Given the description of an element on the screen output the (x, y) to click on. 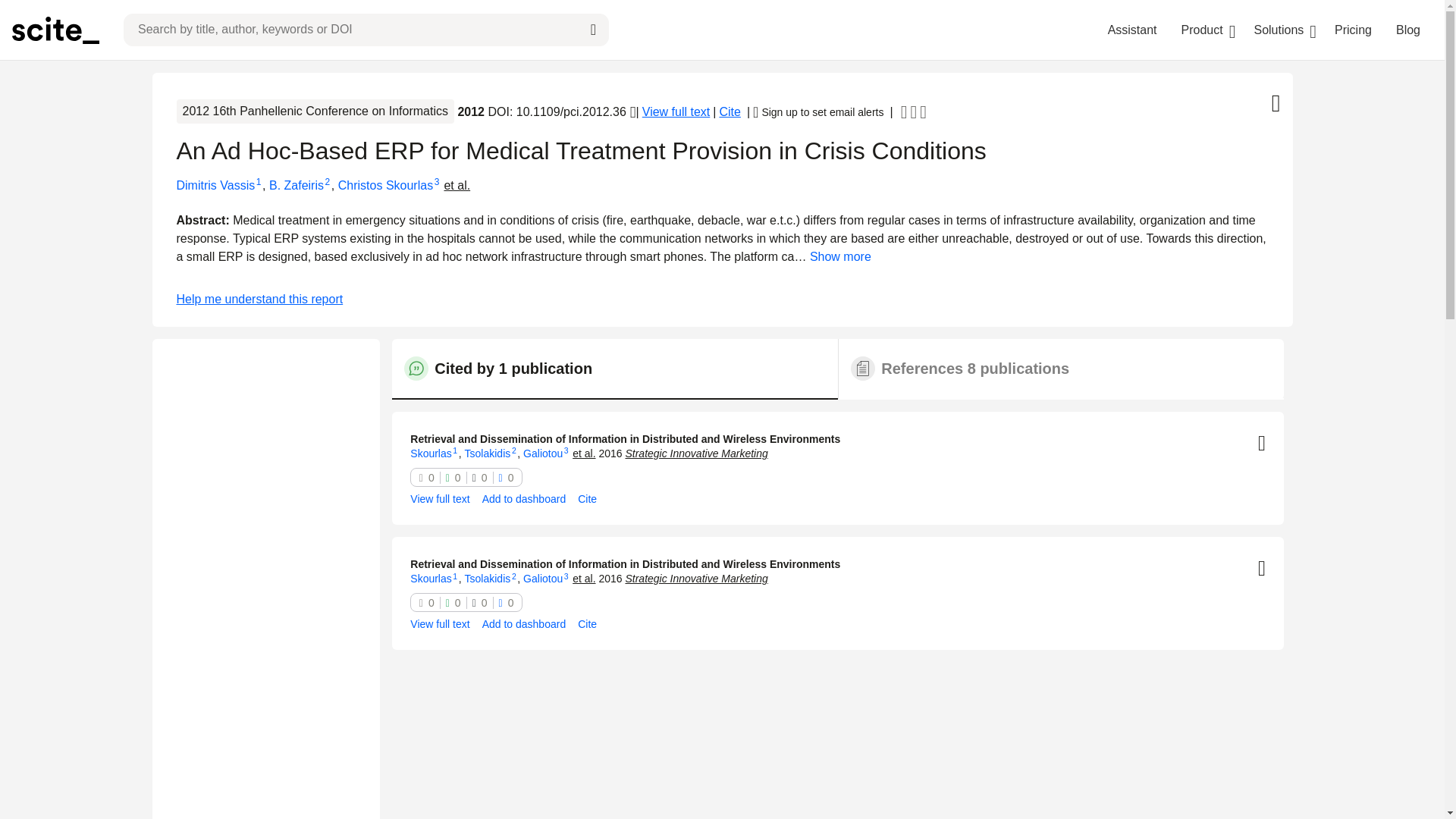
Tsolakidis (487, 453)
B. Zafeiris (296, 185)
Galiotou (542, 453)
Pricing (1353, 29)
Skourlas (430, 453)
Add to dashboard (523, 499)
Product (1201, 29)
Cite (729, 112)
Blog (1408, 29)
